Given the description of an element on the screen output the (x, y) to click on. 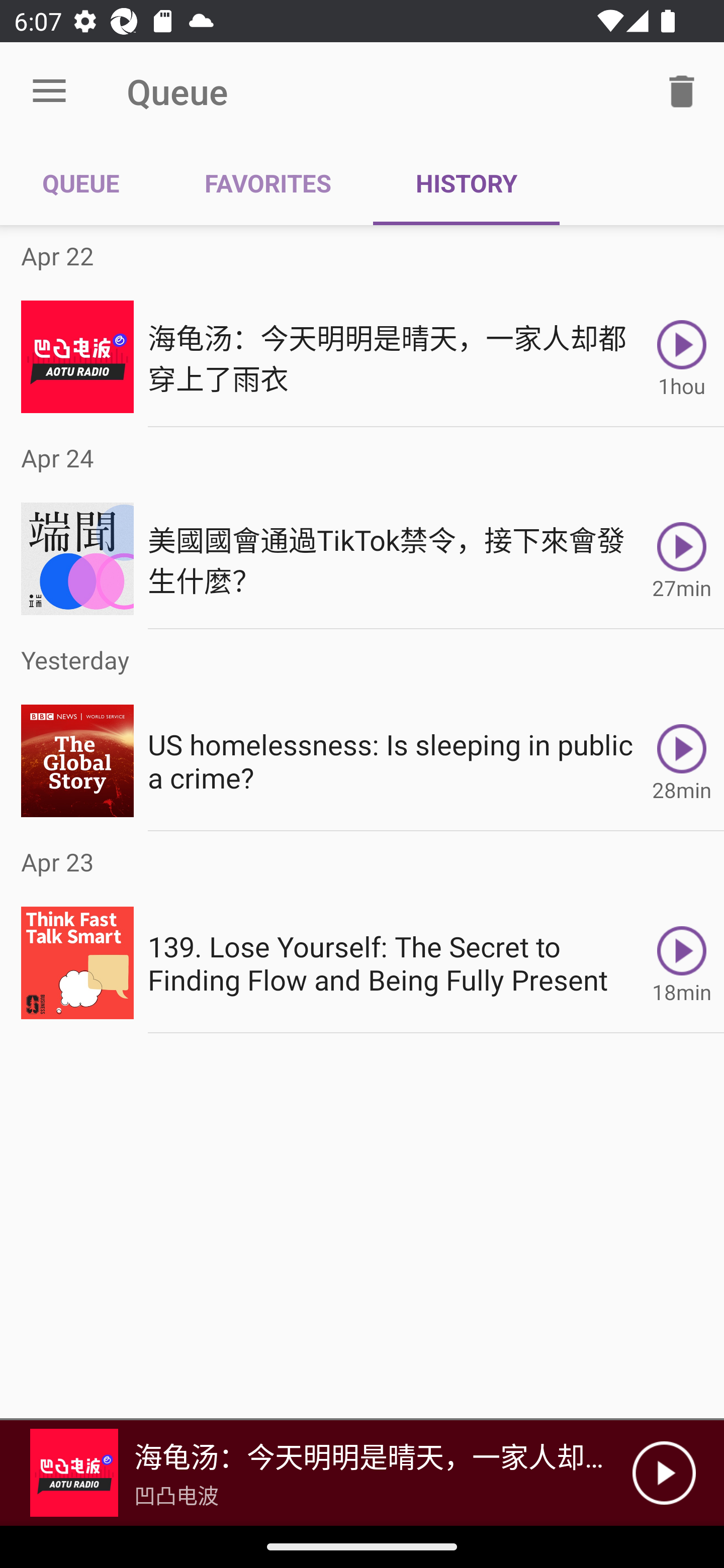
Open menu (49, 91)
Clear History (681, 90)
QUEUE (81, 183)
FAVORITES (267, 183)
HISTORY (465, 183)
Apr 22 海龟汤：今天明明是晴天，一家人却都穿上了雨衣 Play 1hou (362, 325)
Play 1hou (681, 356)
Apr 24 美國國會通過TikTok禁令，接下來會發生什麼？ Play 27min (362, 527)
Play 27min (681, 558)
Play 28min (681, 760)
Play 18min (681, 962)
Picture 海龟汤：今天明明是晴天，一家人却都穿上了雨衣 凹凸电波 (316, 1472)
Play (663, 1472)
